Given the description of an element on the screen output the (x, y) to click on. 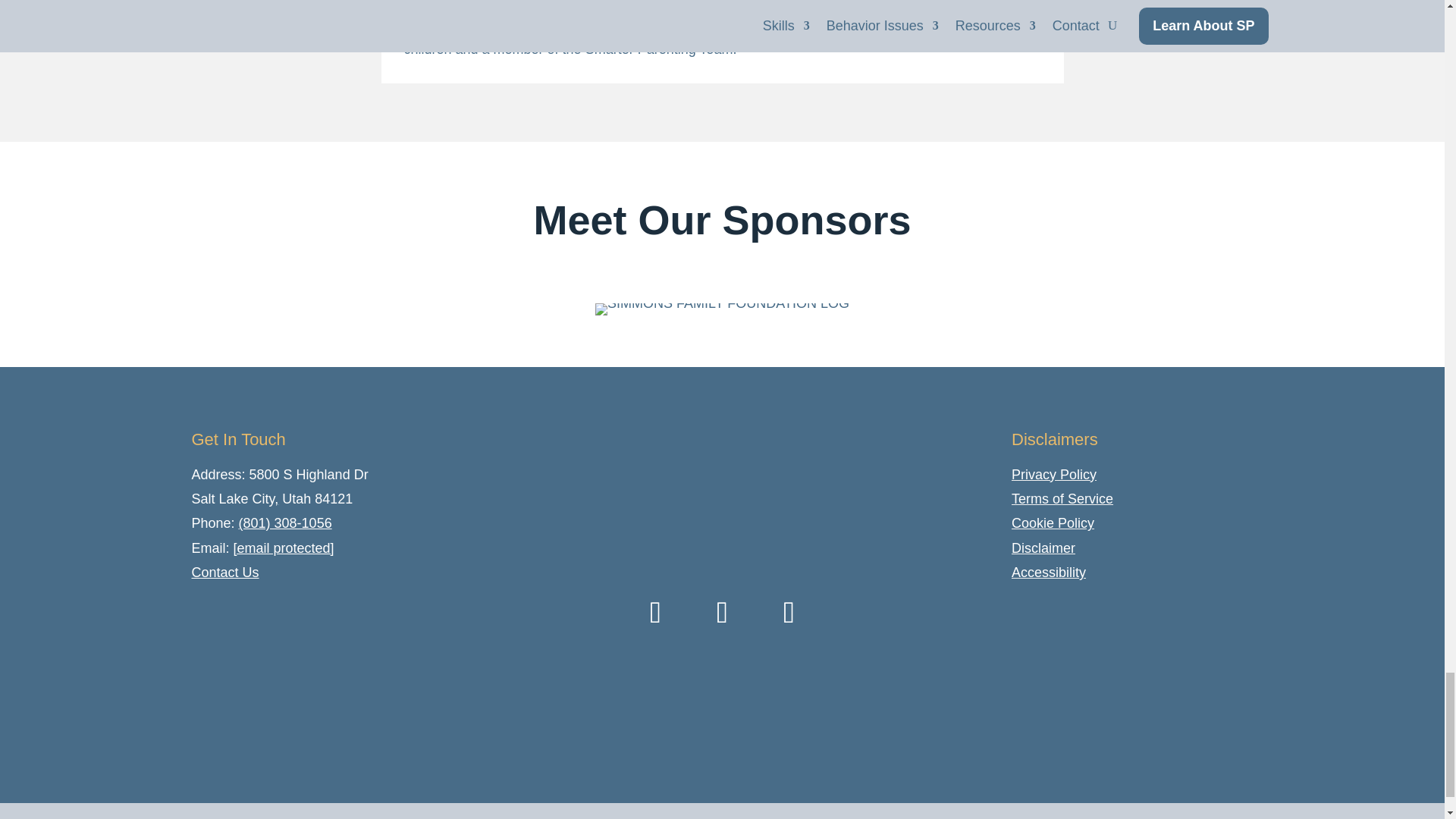
Follow on Youtube (788, 612)
Contact Us (224, 572)
Follow on Facebook (721, 612)
Follow on Instagram (654, 612)
